Given the description of an element on the screen output the (x, y) to click on. 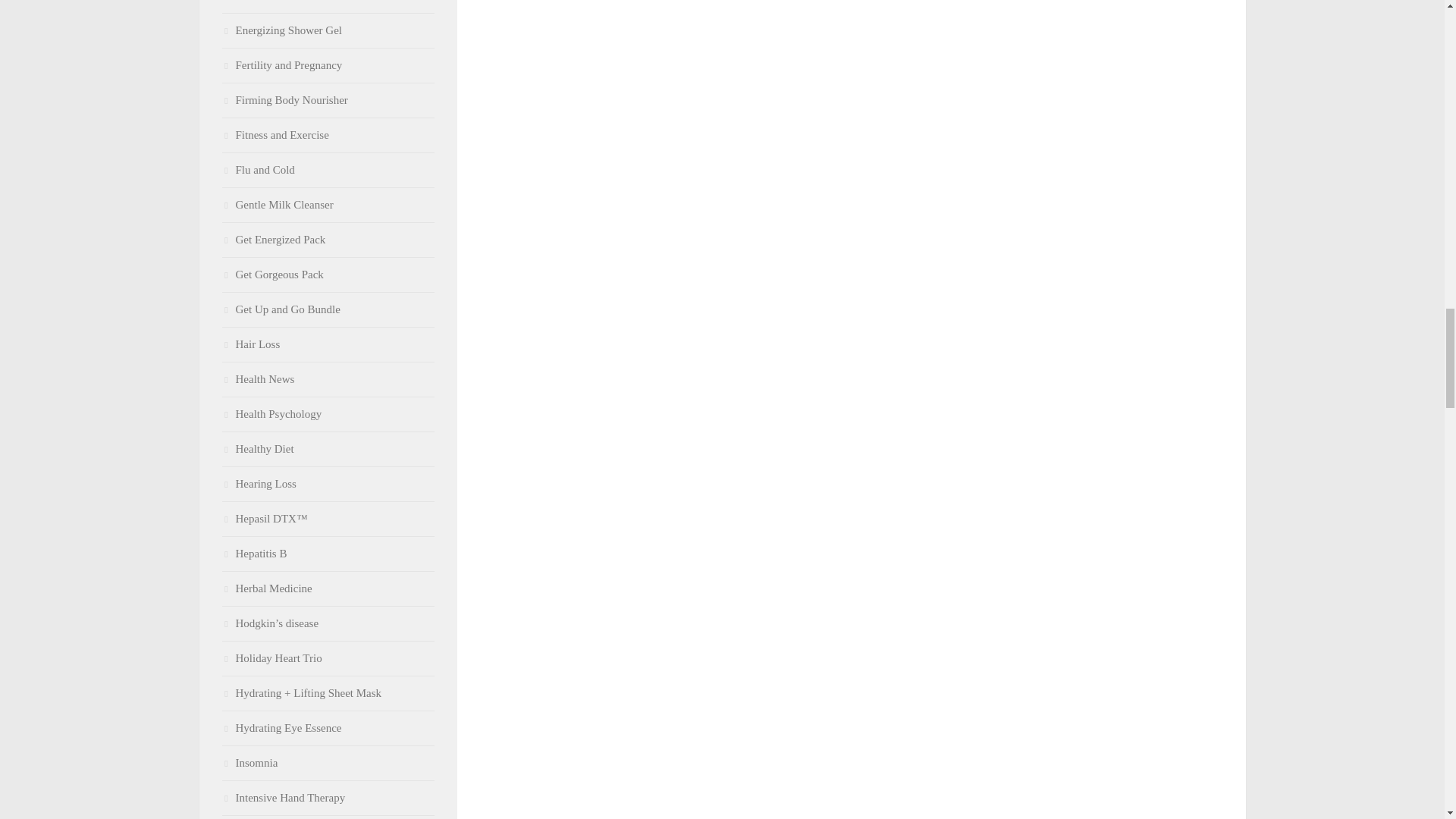
Insomnia (249, 762)
